Given the description of an element on the screen output the (x, y) to click on. 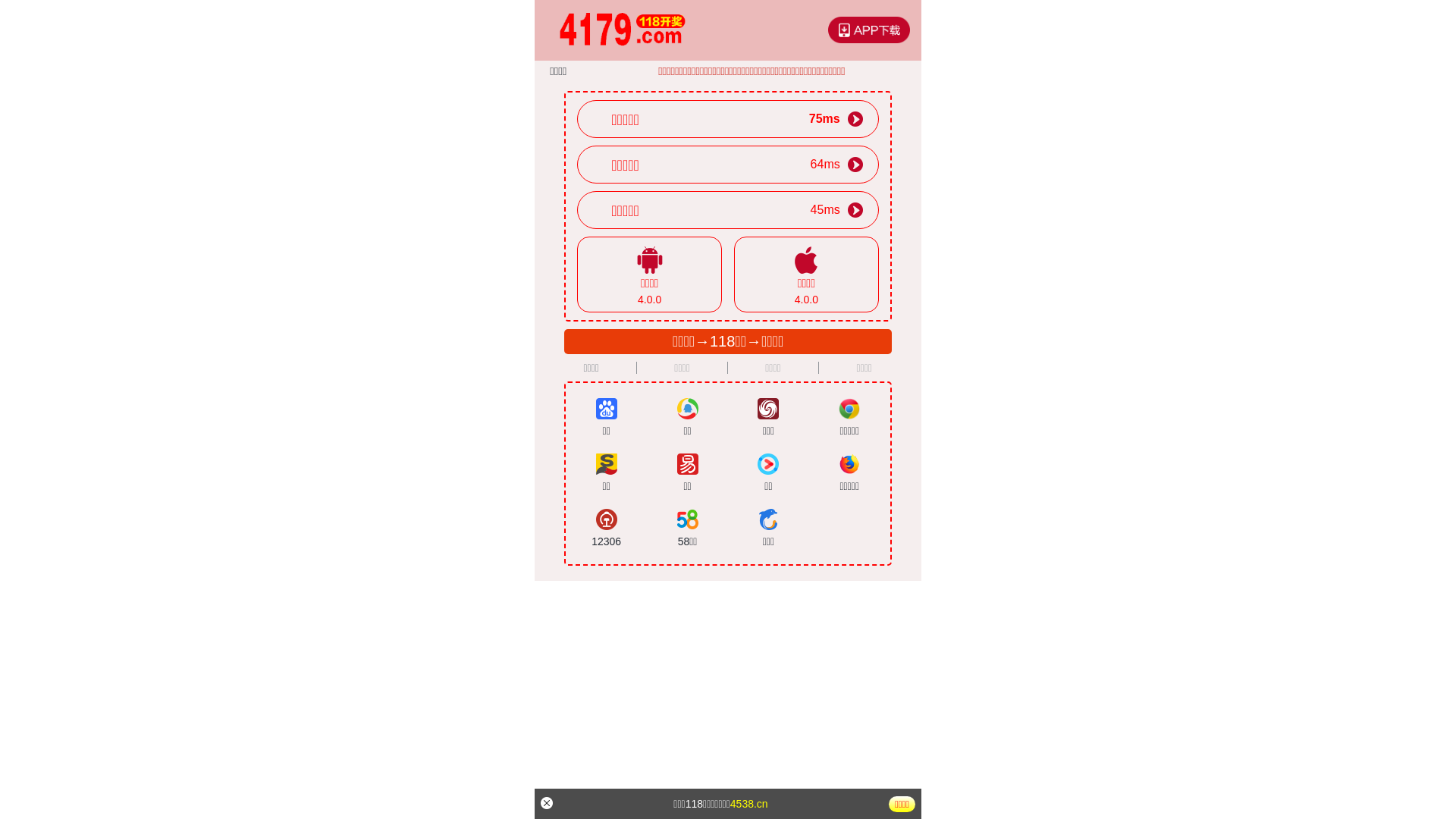
12306 Element type: text (605, 528)
